Given the description of an element on the screen output the (x, y) to click on. 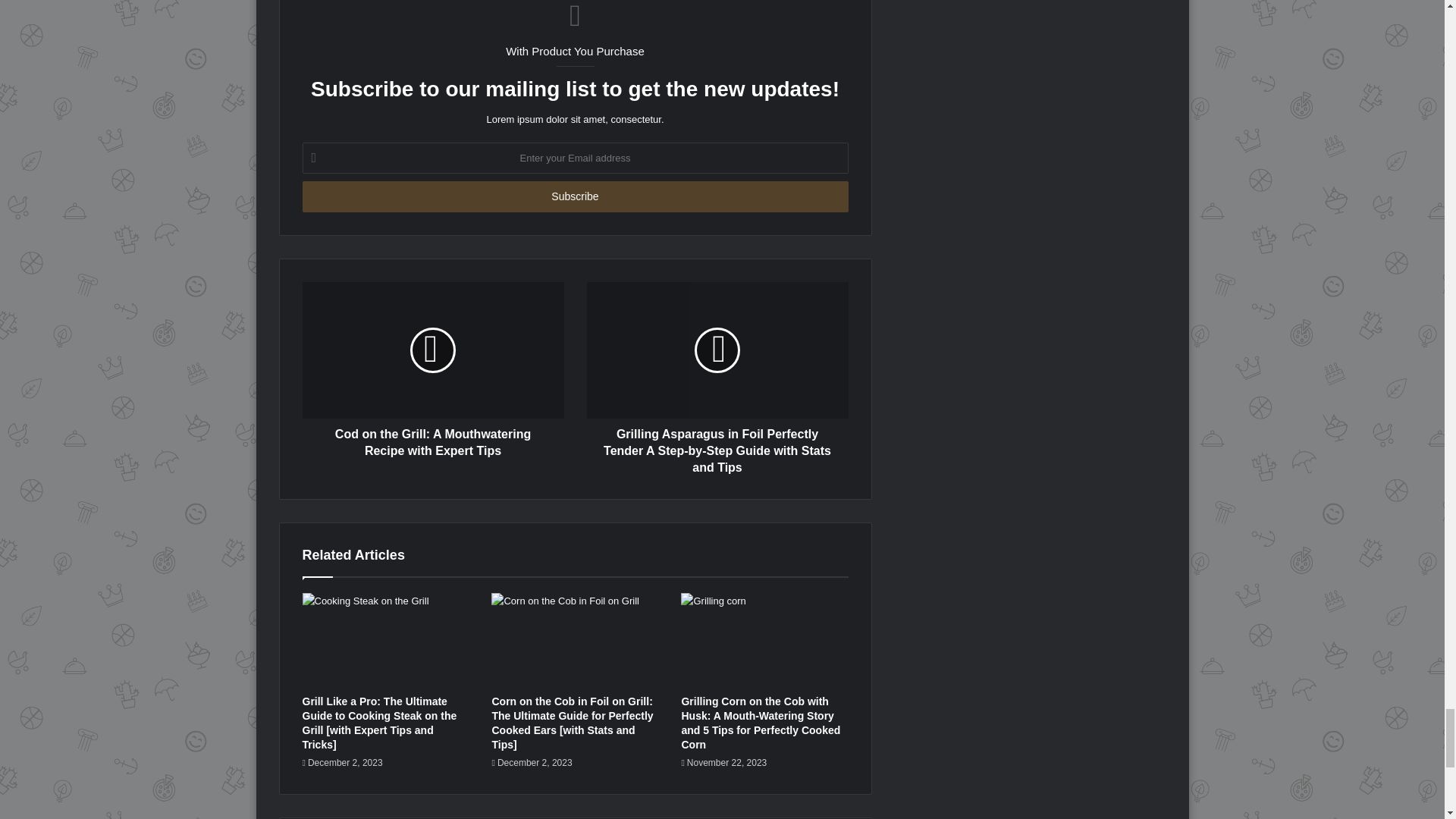
Subscribe (574, 196)
